Given the description of an element on the screen output the (x, y) to click on. 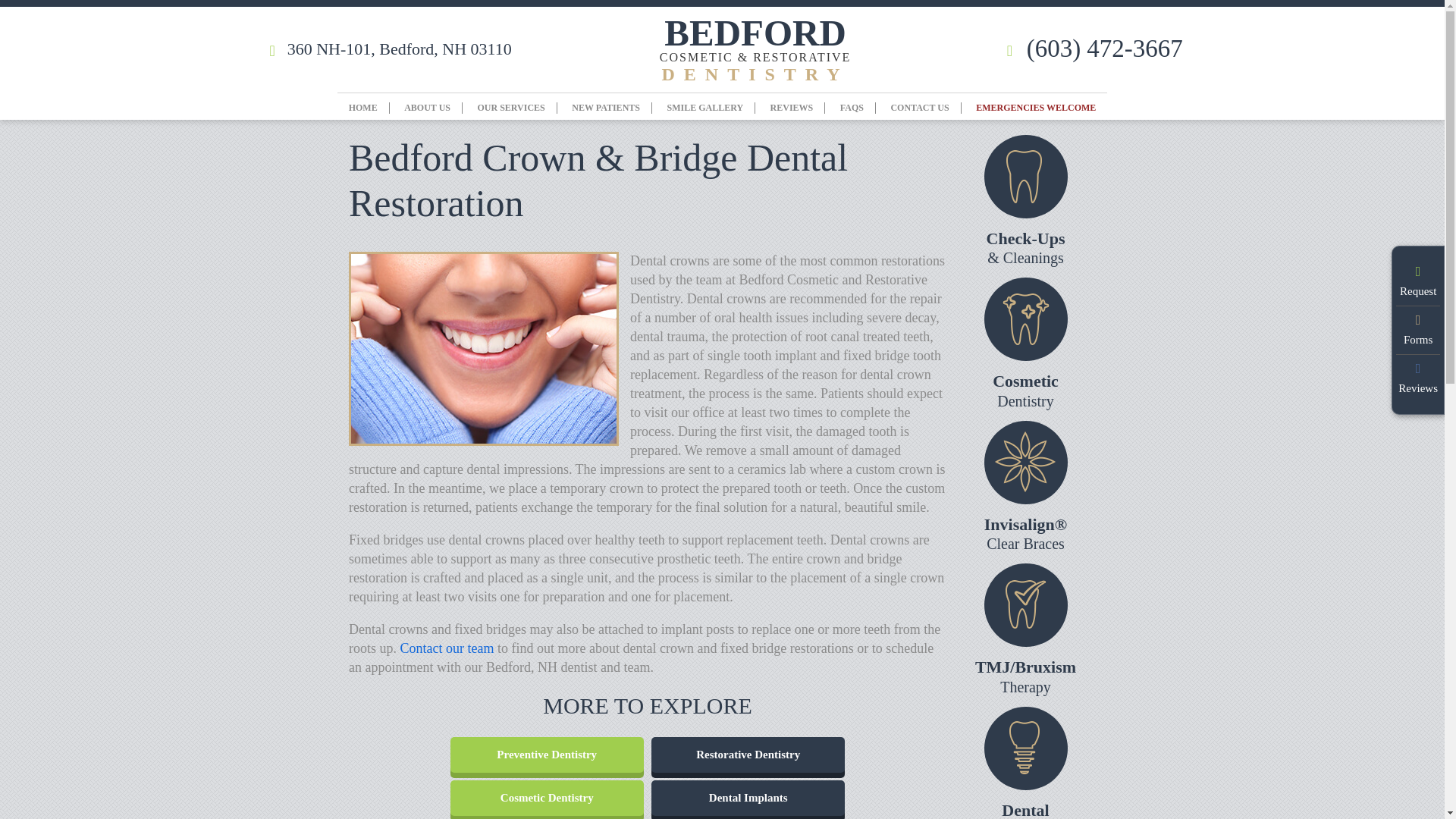
Restorative Dentistry (747, 755)
Contact our team (447, 647)
Dental Implants (747, 796)
FAQ (851, 107)
CONTACT US (919, 107)
Smile Gallery (704, 107)
OUR SERVICES (510, 107)
HOME (362, 107)
ABOUT US (427, 107)
SMILE GALLERY (704, 107)
